Given the description of an element on the screen output the (x, y) to click on. 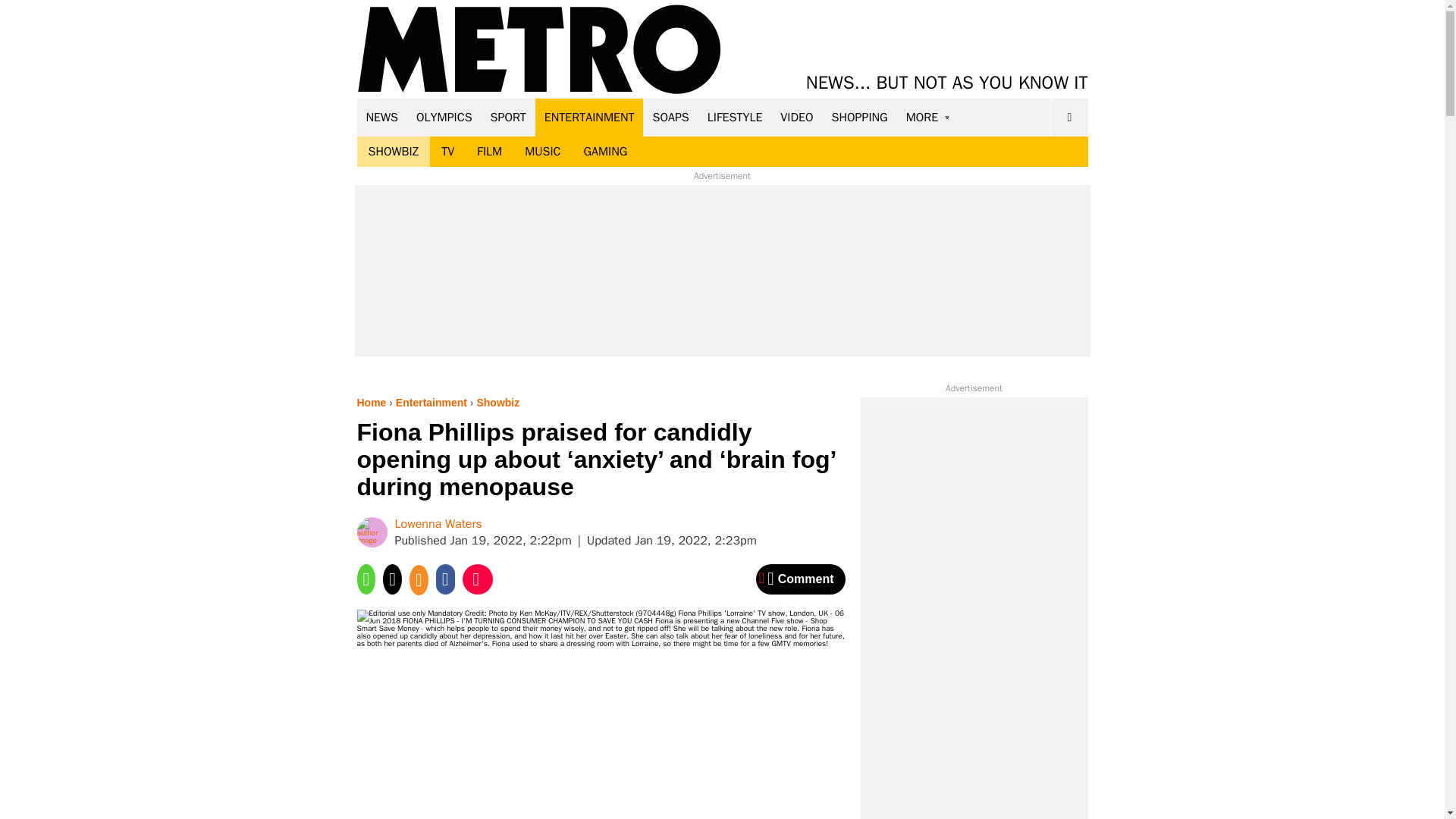
MUSIC (542, 151)
FILM (489, 151)
LIFESTYLE (734, 117)
SPORT (508, 117)
SOAPS (670, 117)
ENTERTAINMENT (589, 117)
SHOWBIZ (392, 151)
OLYMPICS (444, 117)
GAMING (605, 151)
Metro (539, 50)
TV (447, 151)
NEWS (381, 117)
